Given the description of an element on the screen output the (x, y) to click on. 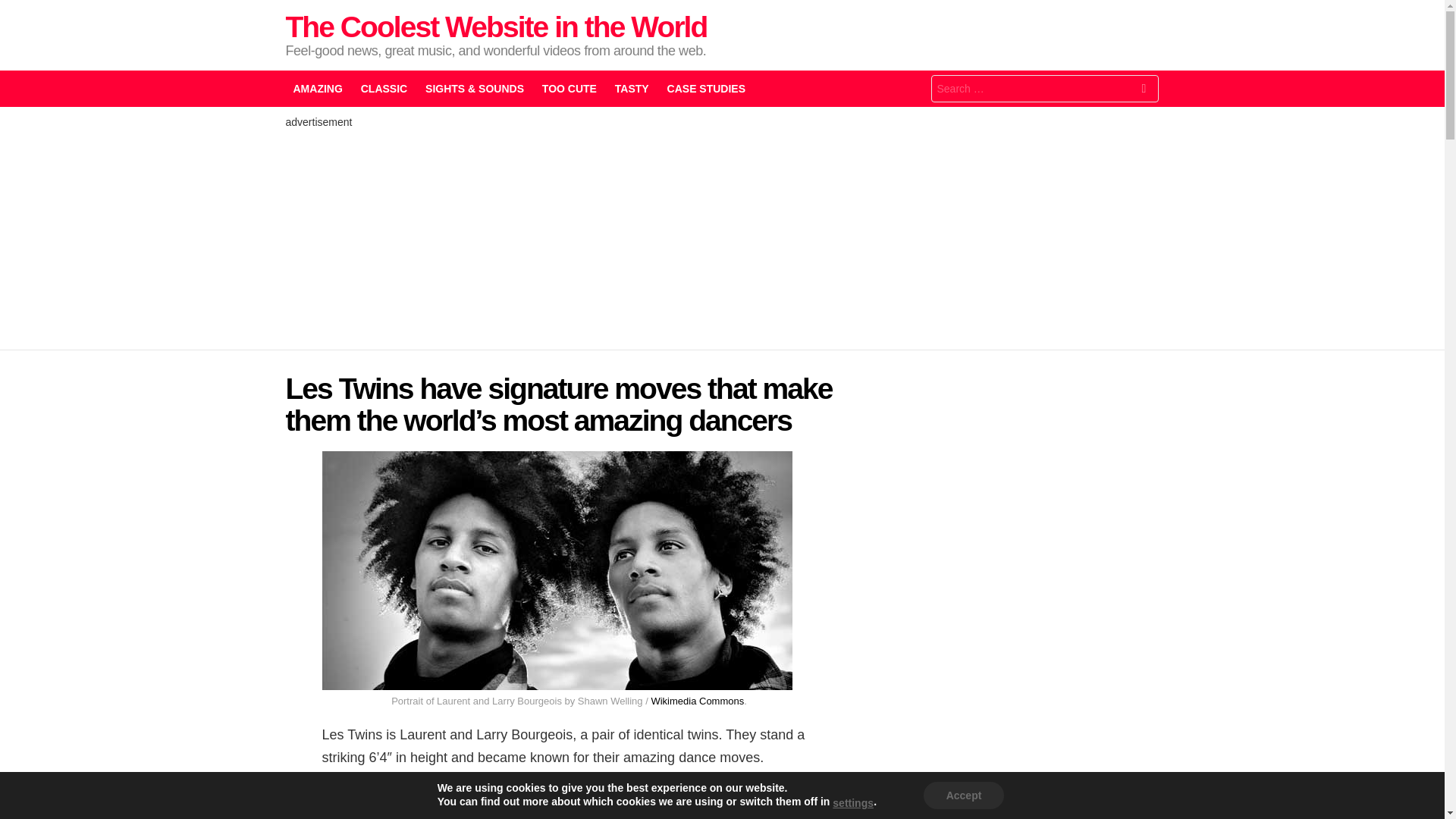
Search for: (1044, 88)
Accept (963, 795)
TOO CUTE (569, 87)
TASTY (631, 87)
Wikimedia Commons (697, 700)
CLASSIC (383, 87)
AMAZING (317, 87)
CASE STUDIES (705, 87)
settings (852, 802)
